Given the description of an element on the screen output the (x, y) to click on. 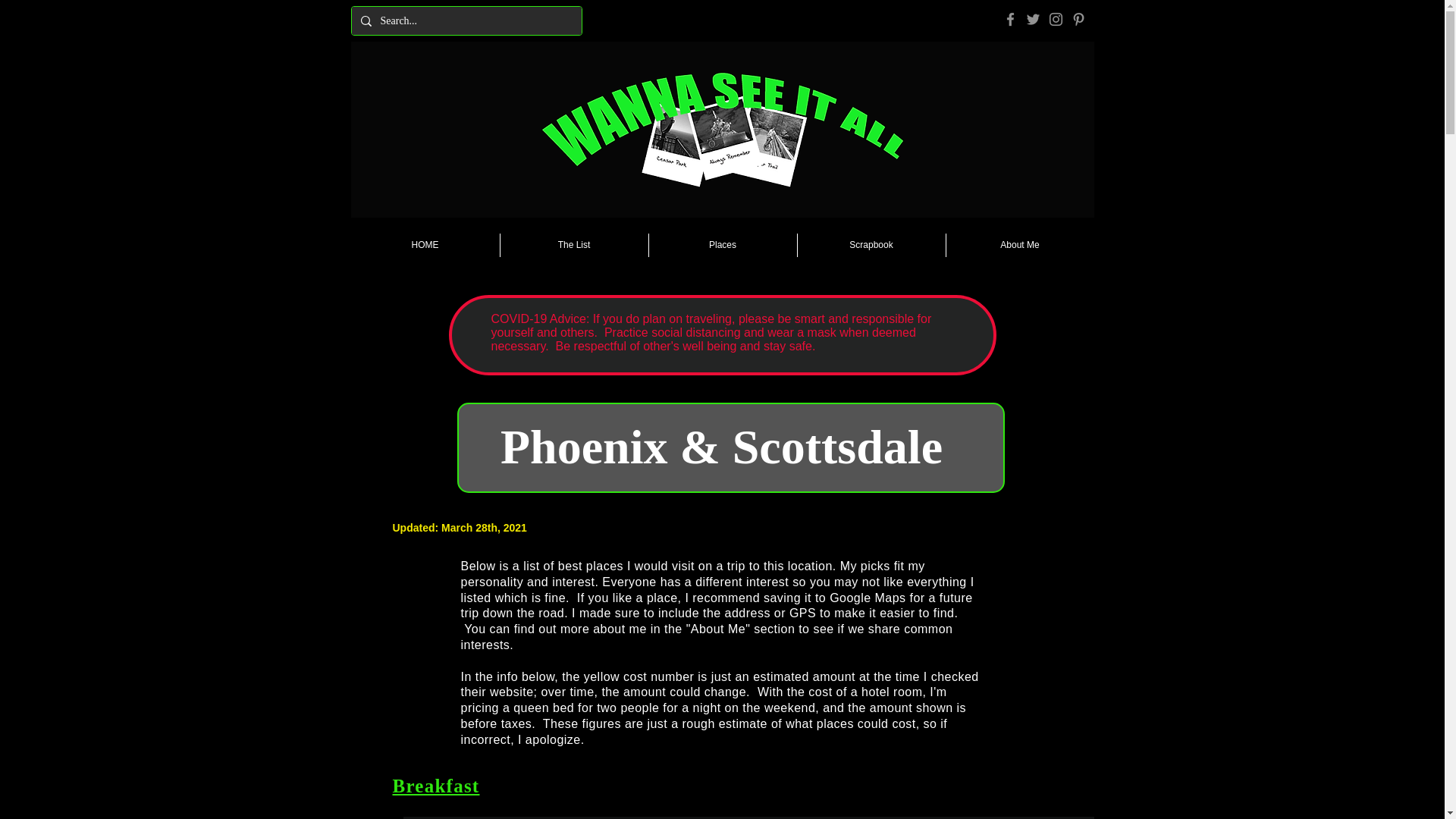
About Me (1020, 245)
Scrapbook (870, 245)
HOME (424, 245)
The List (573, 245)
About Me (717, 628)
Places (722, 245)
